Given the description of an element on the screen output the (x, y) to click on. 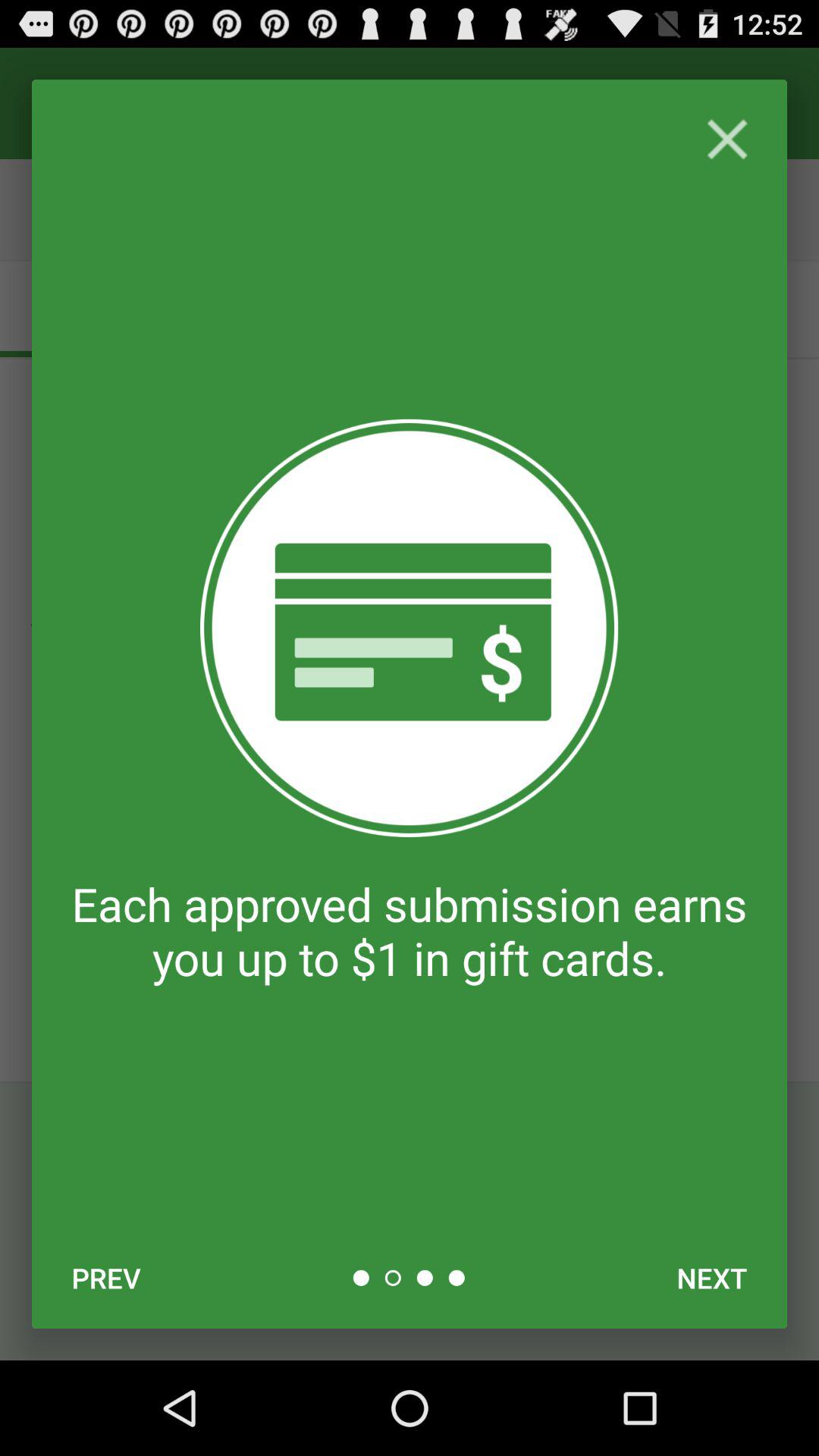
turn off the item below the each approved submission icon (105, 1277)
